Given the description of an element on the screen output the (x, y) to click on. 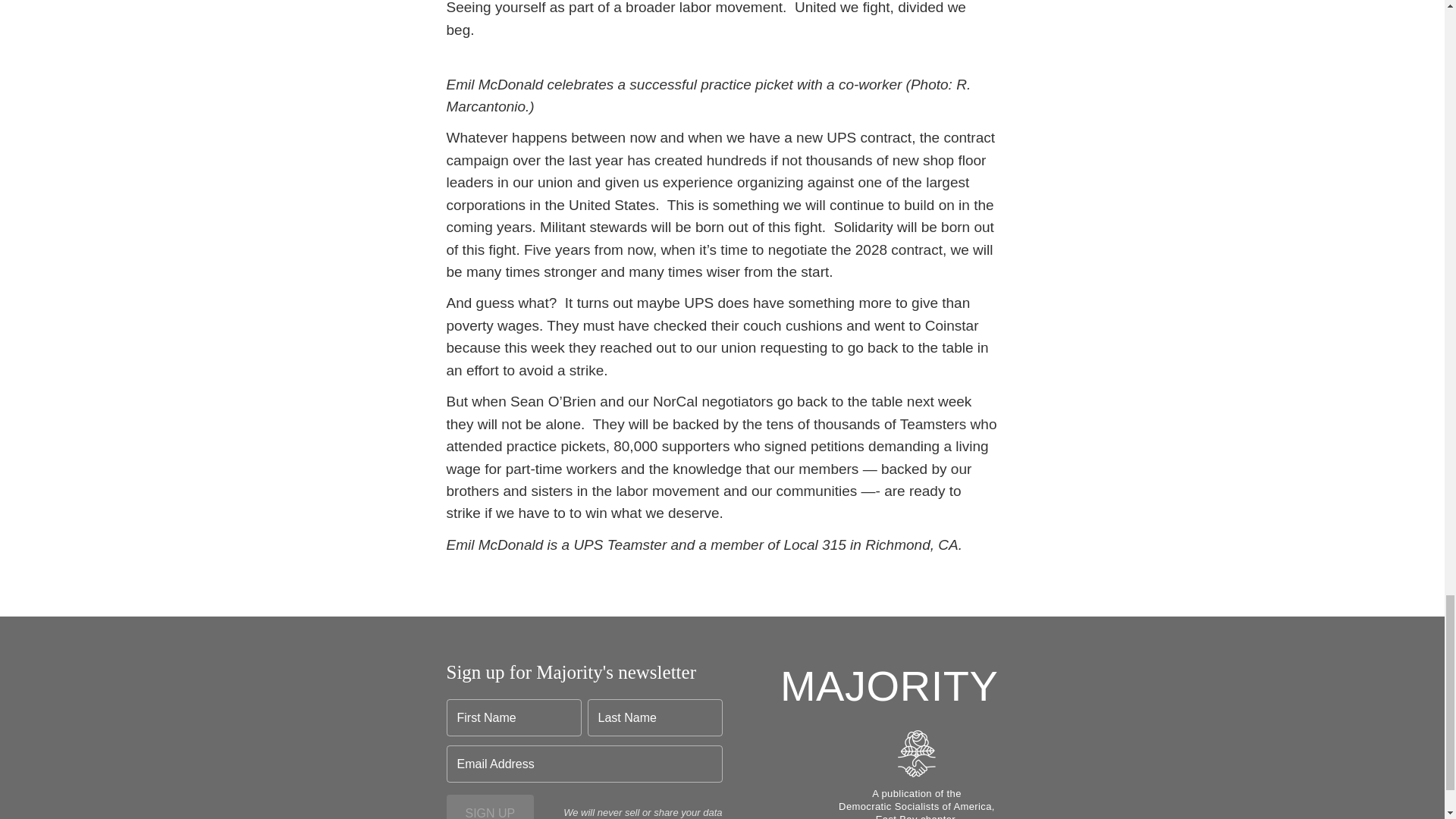
MAJORITY (889, 685)
SIGN UP (489, 806)
